Given the description of an element on the screen output the (x, y) to click on. 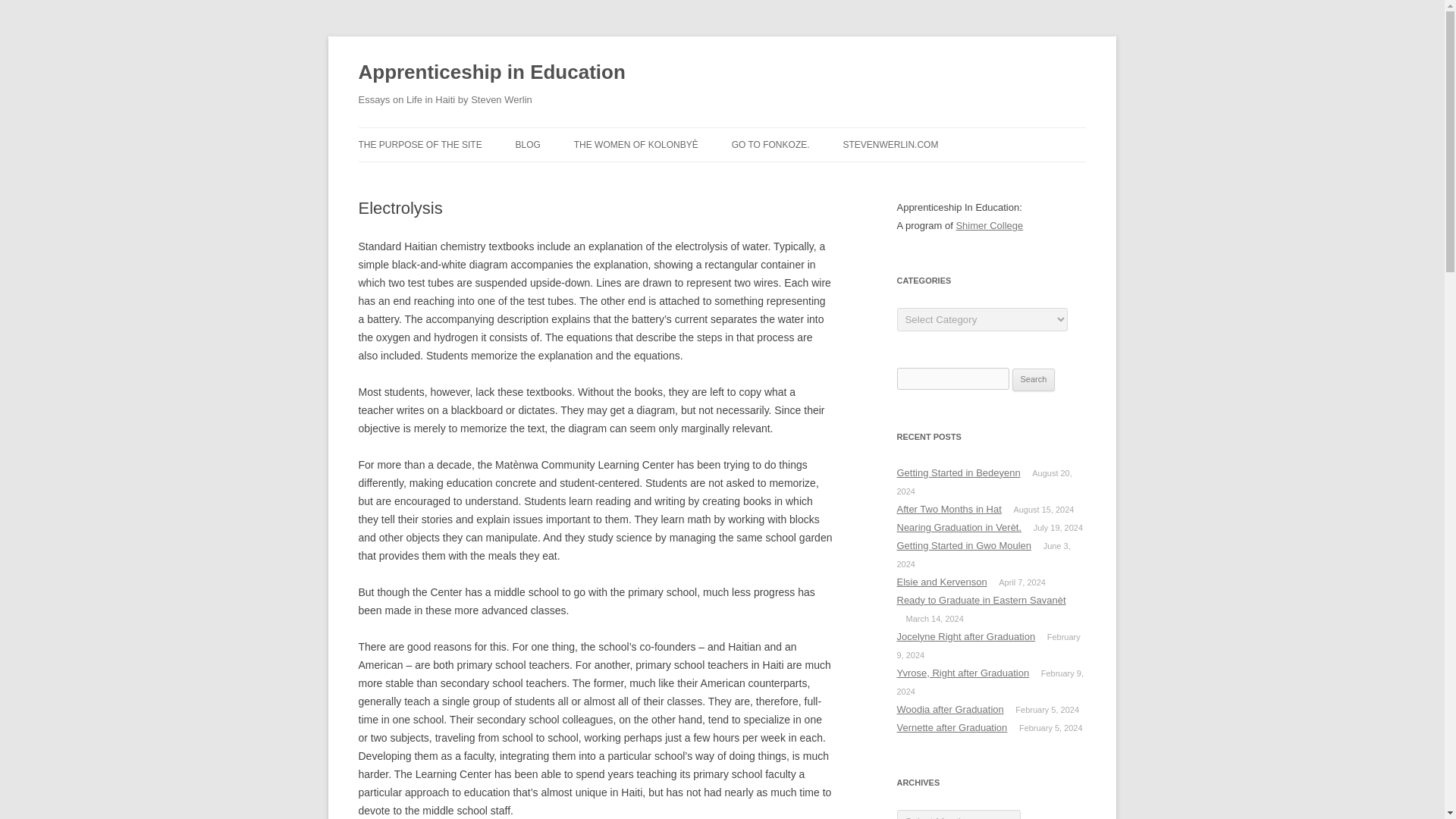
Search (1033, 379)
Elsie and Kervenson (941, 582)
Apprenticeship in Education (491, 72)
THE PURPOSE OF THE SITE (419, 144)
Vernette after Graduation (951, 727)
After Two Months in Hat (948, 509)
Search (1033, 379)
Shimer College (989, 225)
GO TO FONKOZE. (770, 144)
